Given the description of an element on the screen output the (x, y) to click on. 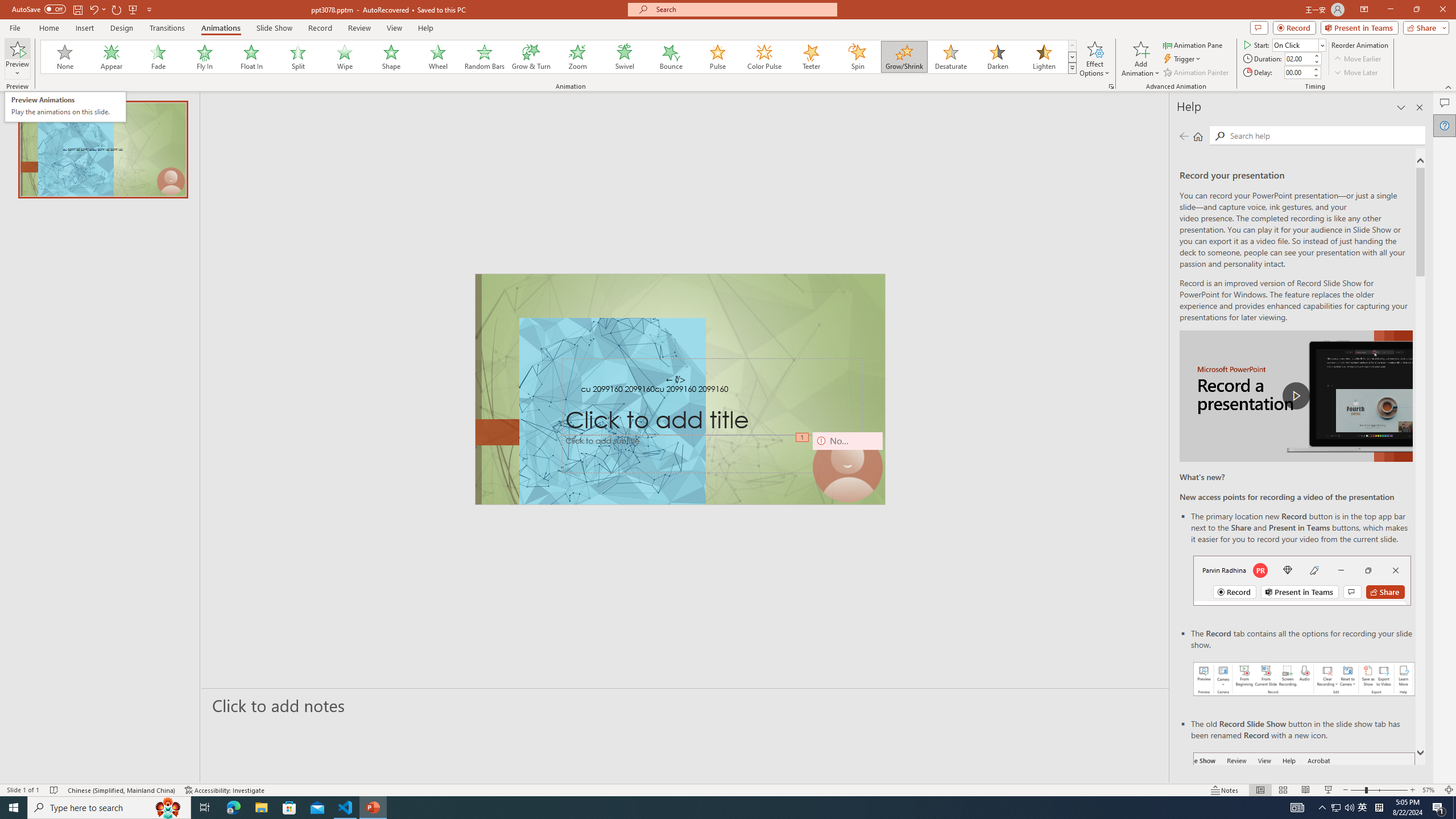
Trigger (65, 106)
Record button in top bar (1182, 58)
Wheel (1301, 580)
Darken (437, 56)
Animation, sequence 1, on Camera 9 (997, 56)
